Given the description of an element on the screen output the (x, y) to click on. 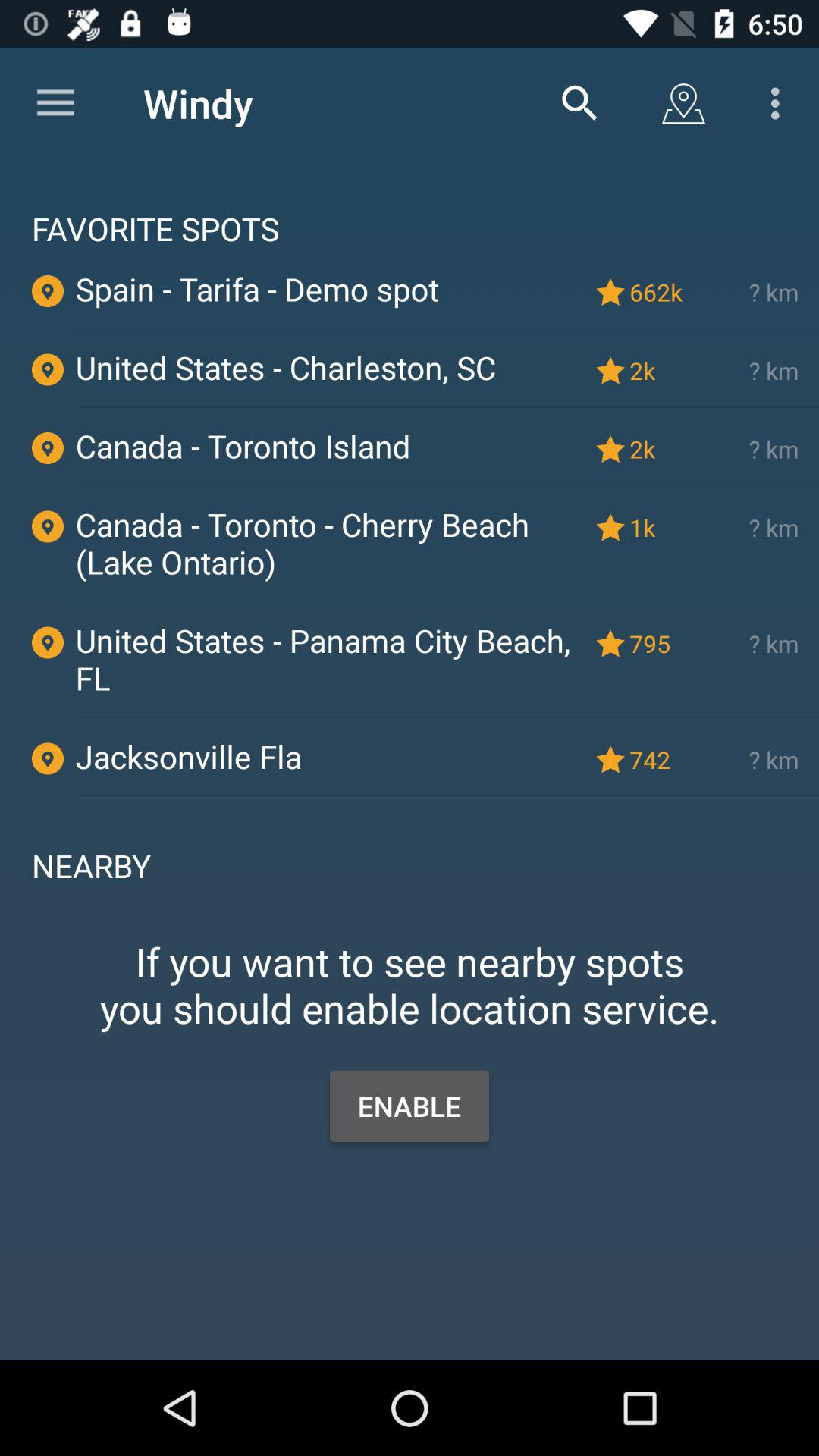
open icon to the left of ? km icon (659, 291)
